Given the description of an element on the screen output the (x, y) to click on. 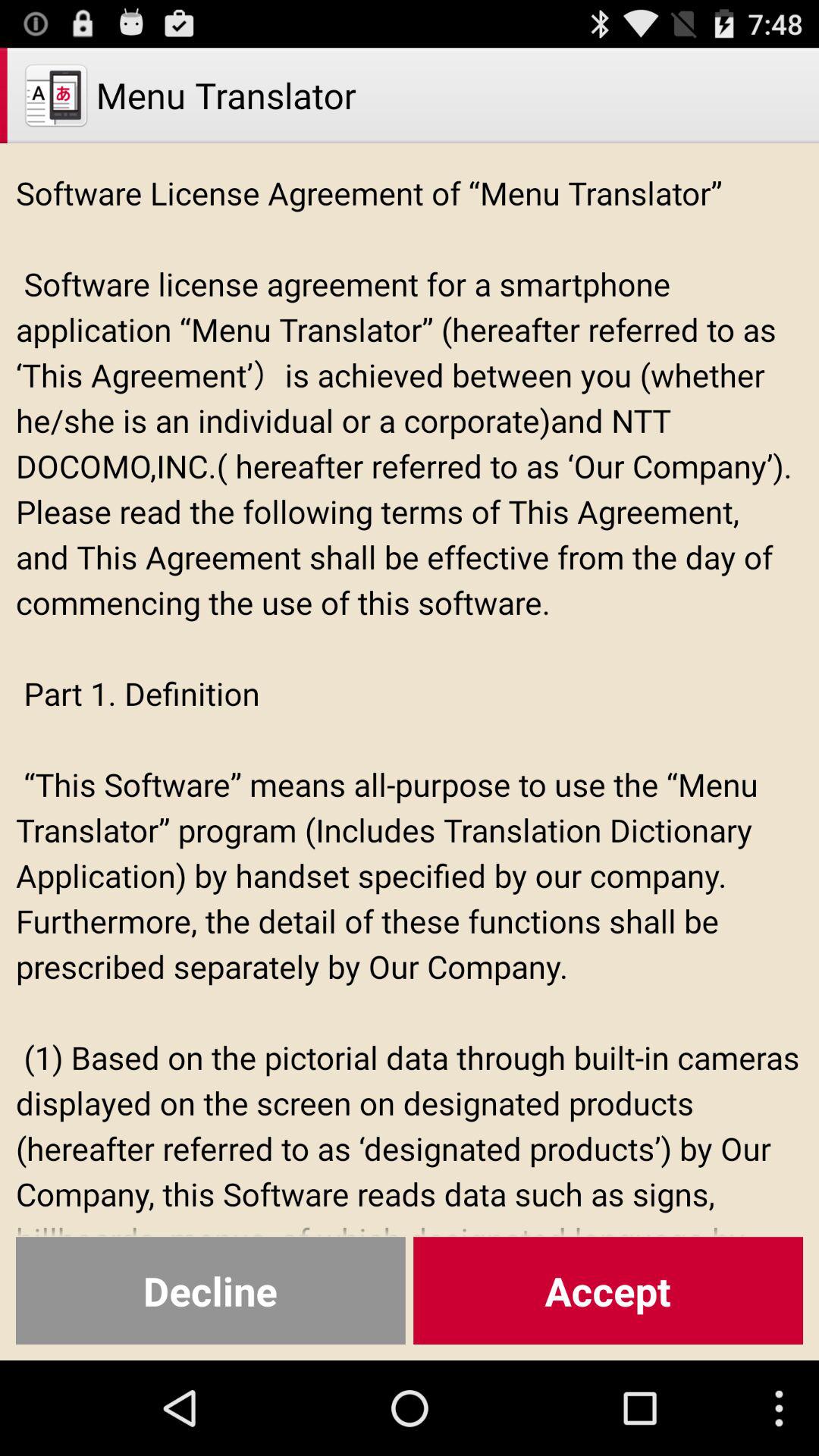
choose the button to the right of decline icon (608, 1290)
